Given the description of an element on the screen output the (x, y) to click on. 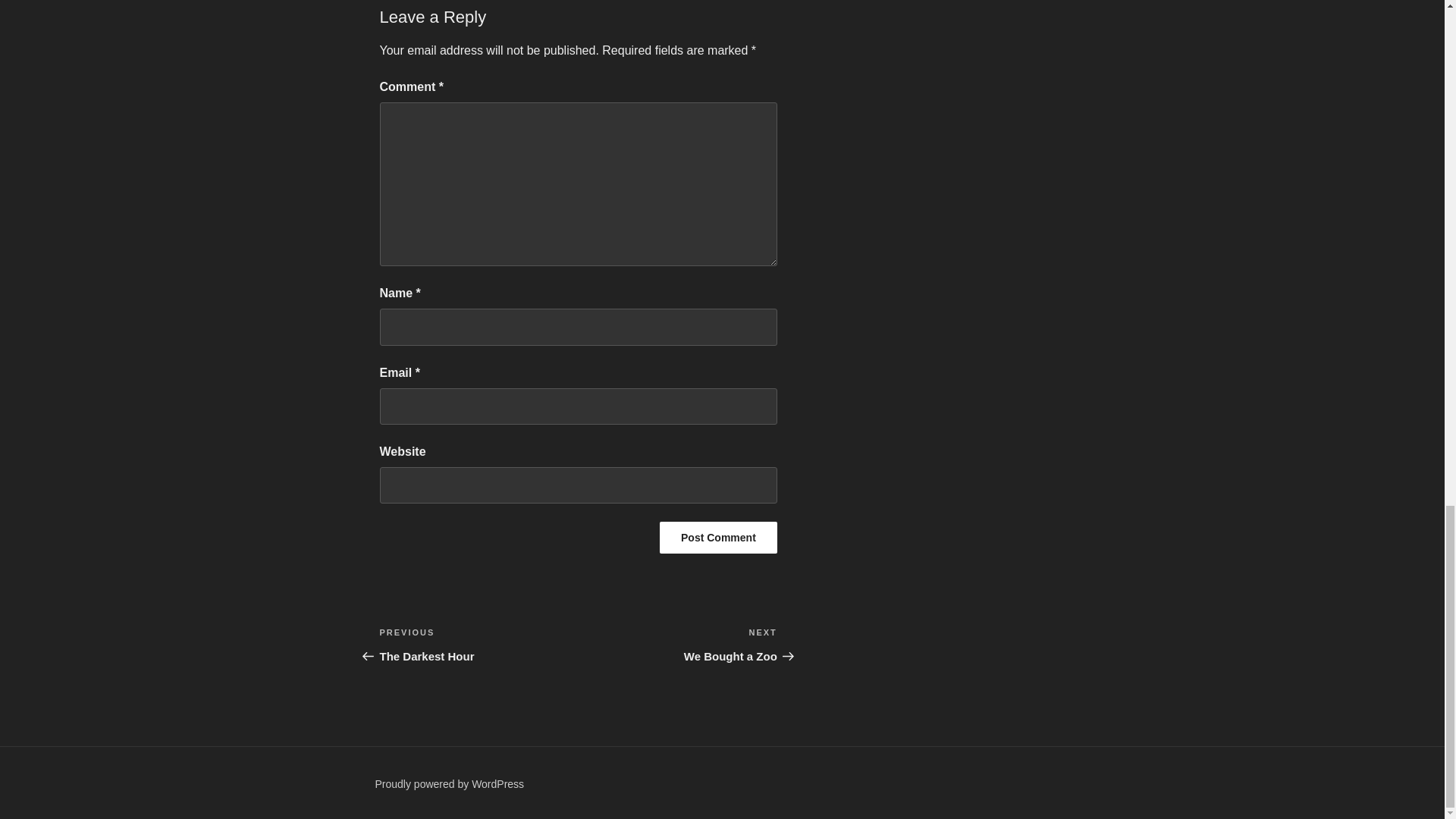
Post Comment (478, 644)
Proudly powered by WordPress (677, 644)
Post Comment (718, 537)
